Given the description of an element on the screen output the (x, y) to click on. 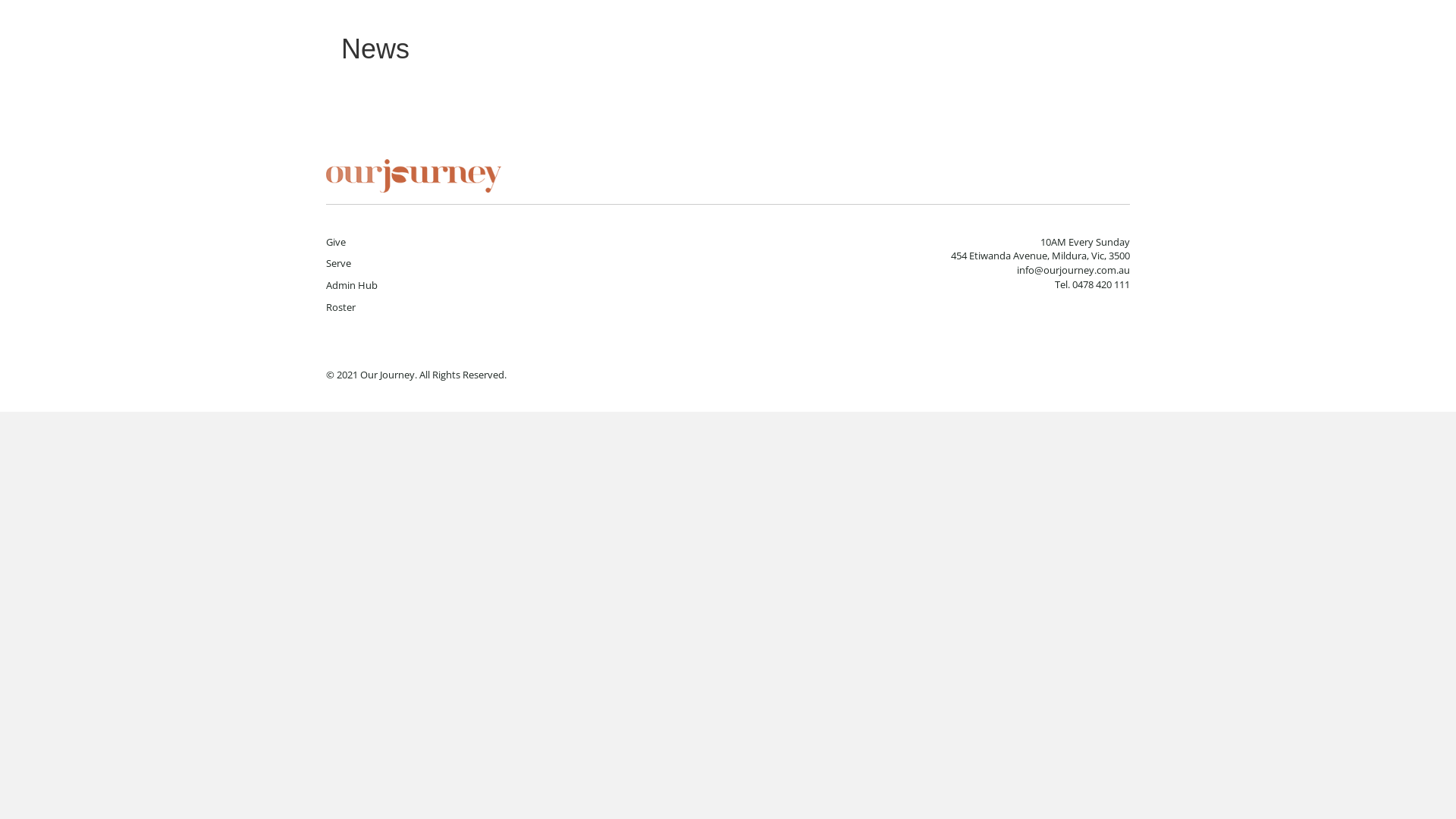
OJ-login Element type: hover (413, 175)
Admin Hub Element type: text (351, 284)
info@ourjourney.com.au Element type: text (1072, 269)
Roster Element type: text (340, 306)
Give Element type: text (335, 241)
Serve Element type: text (338, 262)
